Given the description of an element on the screen output the (x, y) to click on. 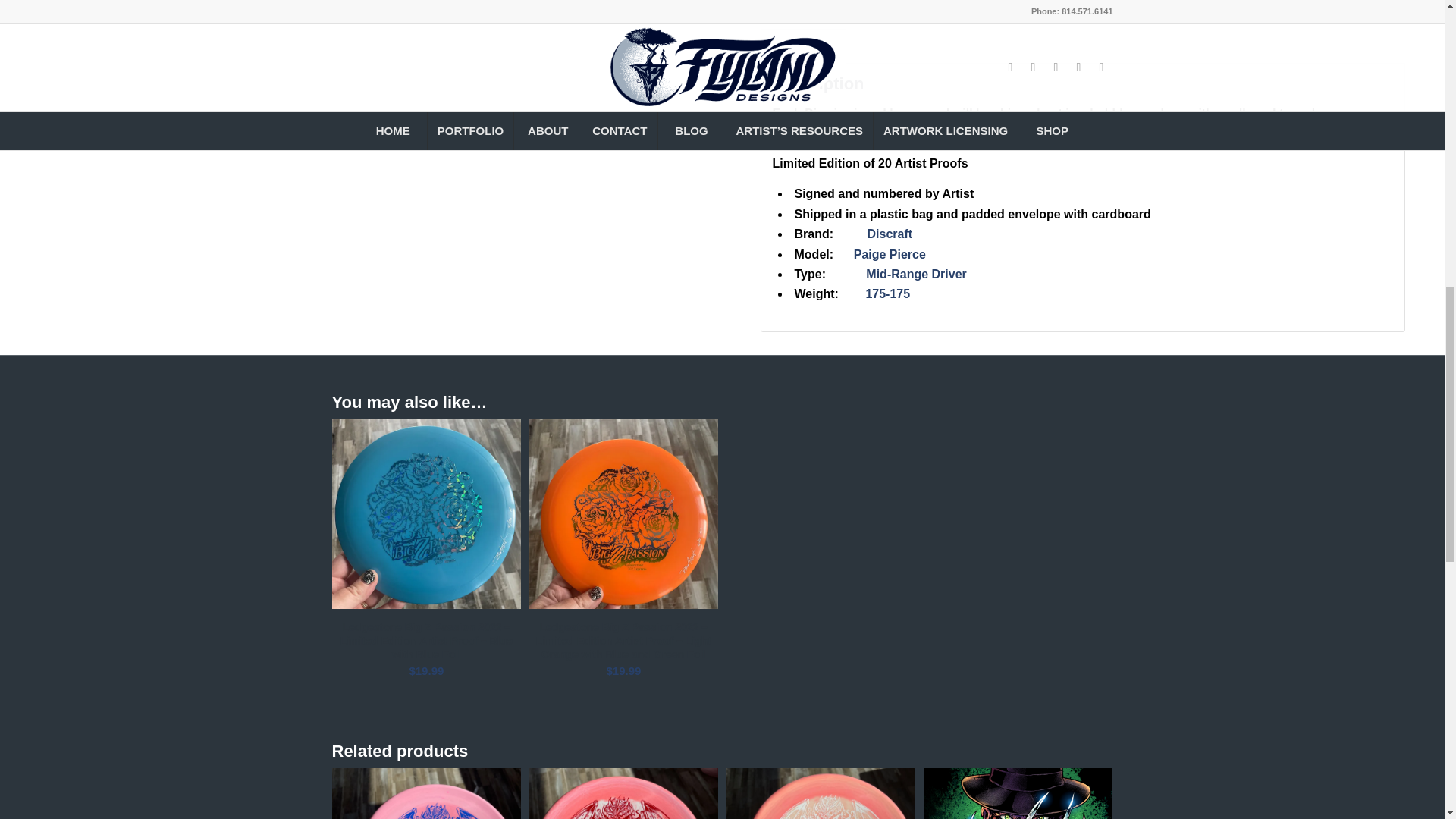
Description (802, 45)
